Given the description of an element on the screen output the (x, y) to click on. 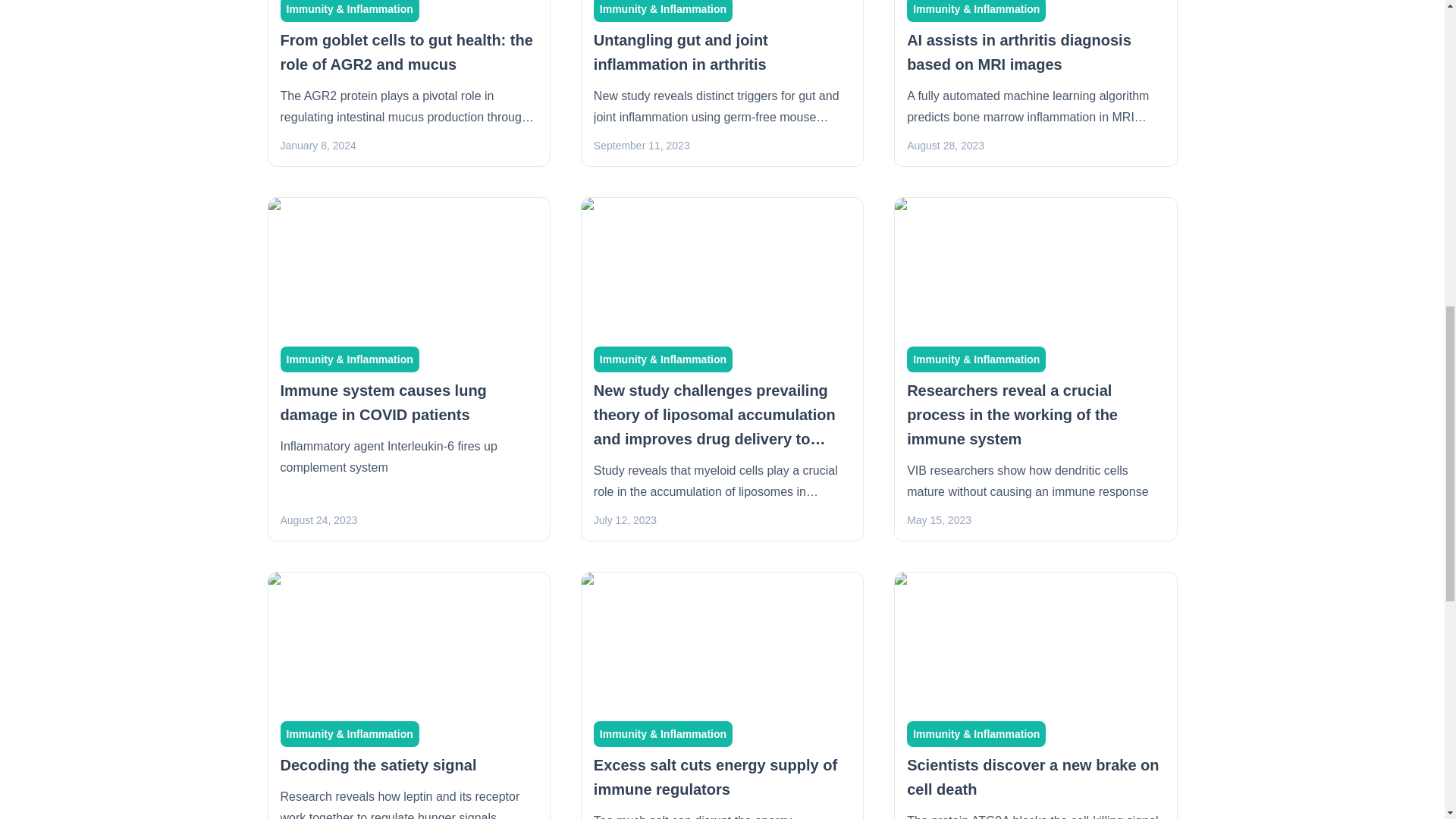
From goblet cells to gut health: the role of AGR2 and mucus (406, 51)
Immune system causes lung damage in COVID patients (383, 402)
Excess salt cuts energy supply of immune regulators (715, 776)
Scientists discover a new brake on cell death (1032, 776)
Untangling gut and joint inflammation in arthritis  (682, 51)
Decoding the satiety signal (379, 764)
AI assists in arthritis diagnosis based on MRI images  (1019, 51)
